Given the description of an element on the screen output the (x, y) to click on. 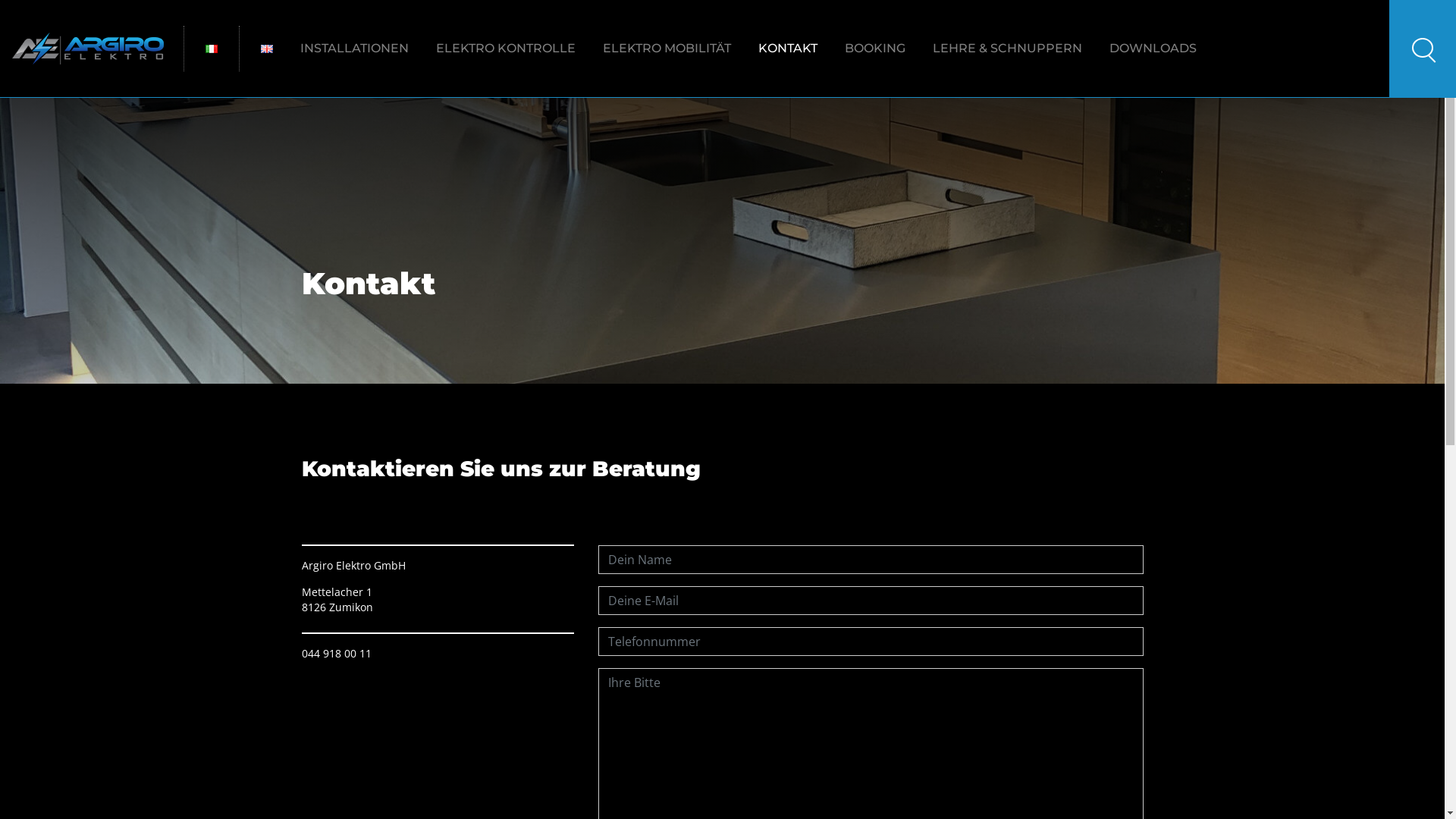
LEHRE & SCHNUPPERN Element type: text (1007, 48)
DOWNLOADS Element type: text (1152, 48)
BOOKING Element type: text (874, 48)
KONTAKT Element type: text (787, 48)
ELEKTRO KONTROLLE Element type: text (505, 48)
INSTALLATIONEN Element type: text (354, 48)
